Given the description of an element on the screen output the (x, y) to click on. 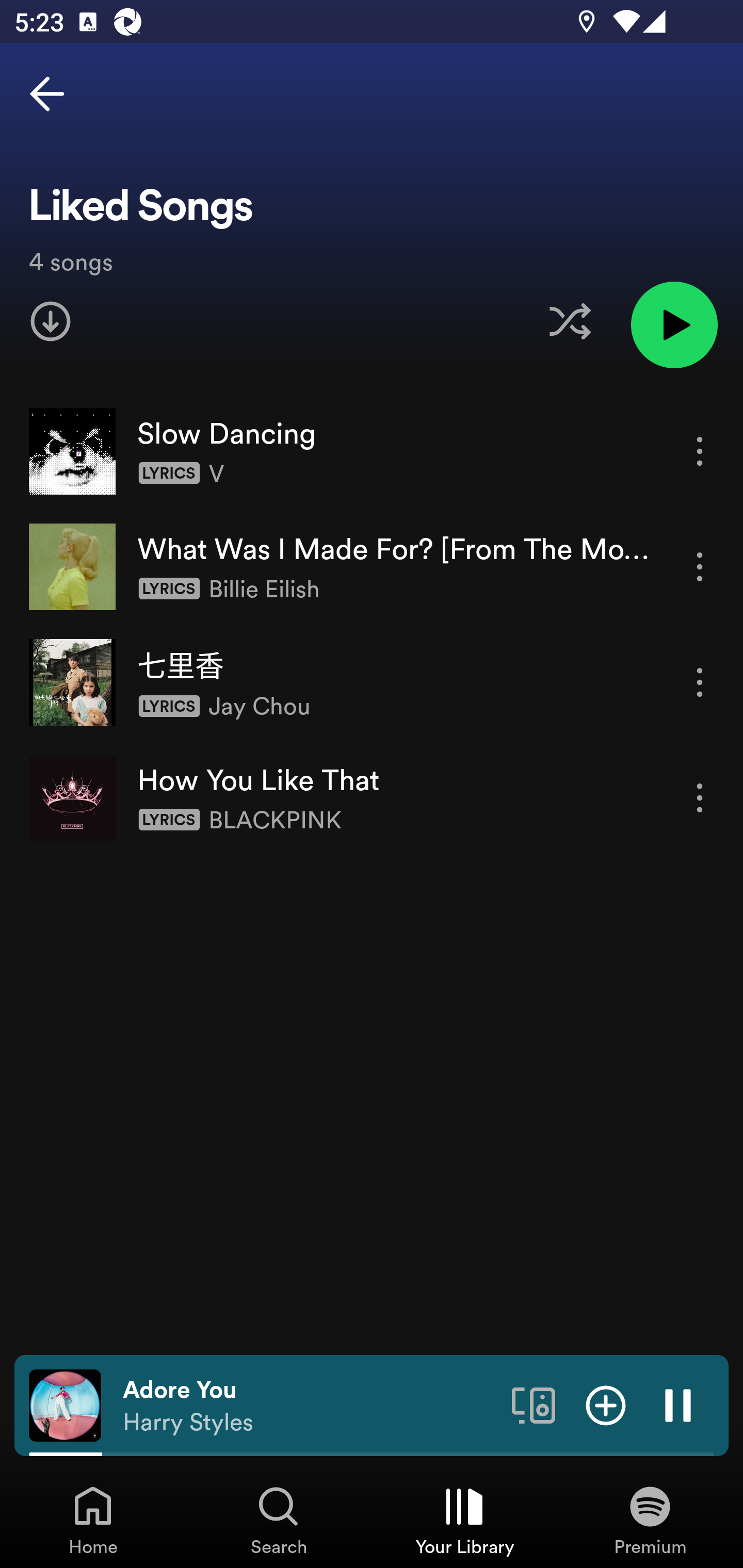
Back (46, 93)
Download (50, 321)
Enable shuffle for this liked songs (569, 321)
Play liked songs (674, 324)
More options for song Slow Dancing (699, 450)
七里香 More options for song 七里香 Lyrics Jay Chou (371, 682)
More options for song 七里香 (699, 682)
More options for song How You Like That (699, 798)
Adore You Harry Styles (309, 1405)
The cover art of the currently playing track (64, 1404)
Connect to a device. Opens the devices menu (533, 1404)
Add item (605, 1404)
Pause (677, 1404)
Home, Tab 1 of 4 Home Home (92, 1519)
Search, Tab 2 of 4 Search Search (278, 1519)
Your Library, Tab 3 of 4 Your Library Your Library (464, 1519)
Premium, Tab 4 of 4 Premium Premium (650, 1519)
